Given the description of an element on the screen output the (x, y) to click on. 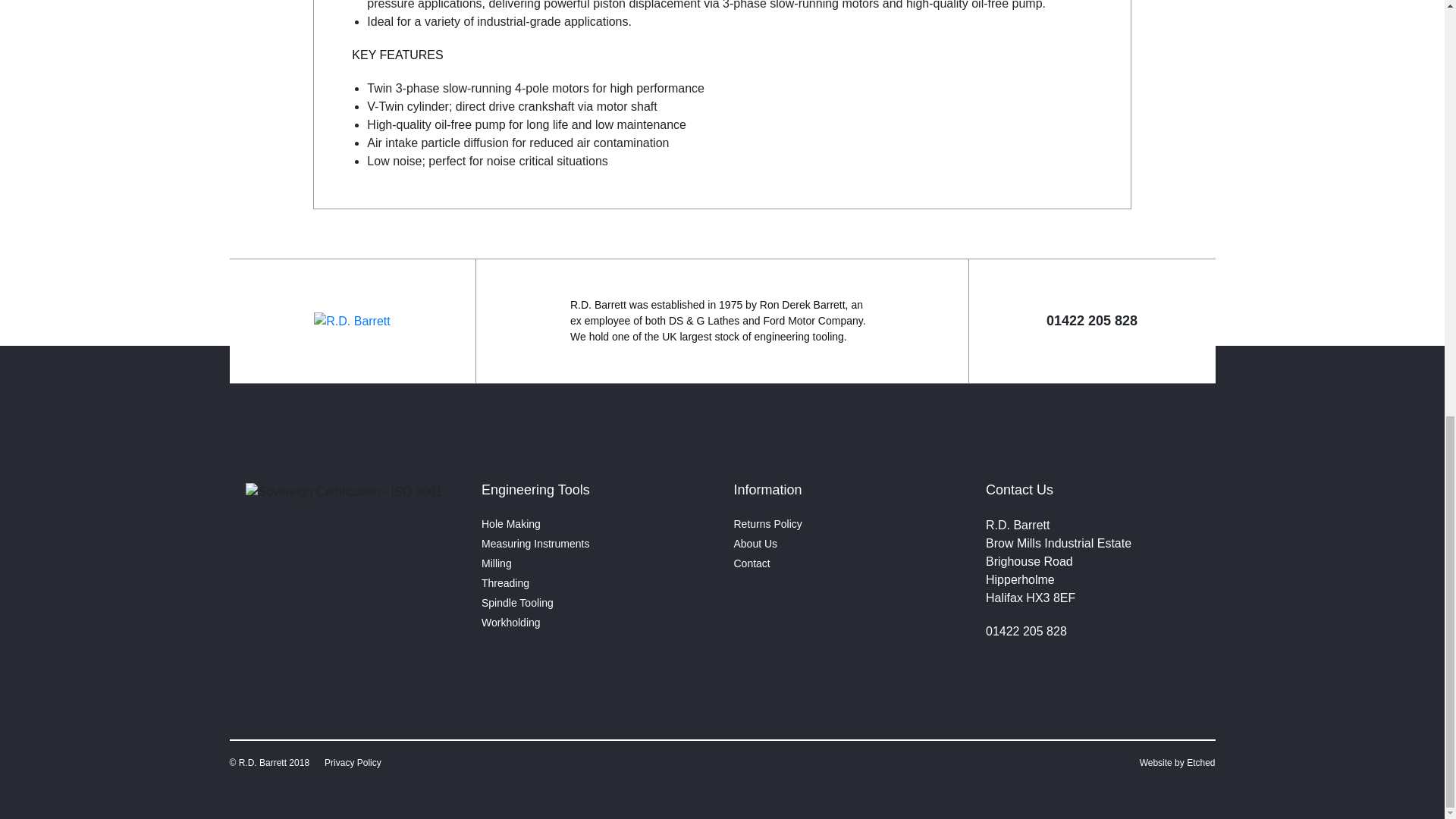
Hole Making (510, 523)
Privacy Policy (352, 762)
Workholding (510, 622)
About Us (755, 543)
Measuring Instruments (535, 543)
Website by Etched (1177, 762)
Threading (505, 582)
Milling (496, 563)
01422 205 828 (1026, 631)
Spindle Tooling (517, 603)
Contact (751, 563)
Returns Policy (767, 523)
